Given the description of an element on the screen output the (x, y) to click on. 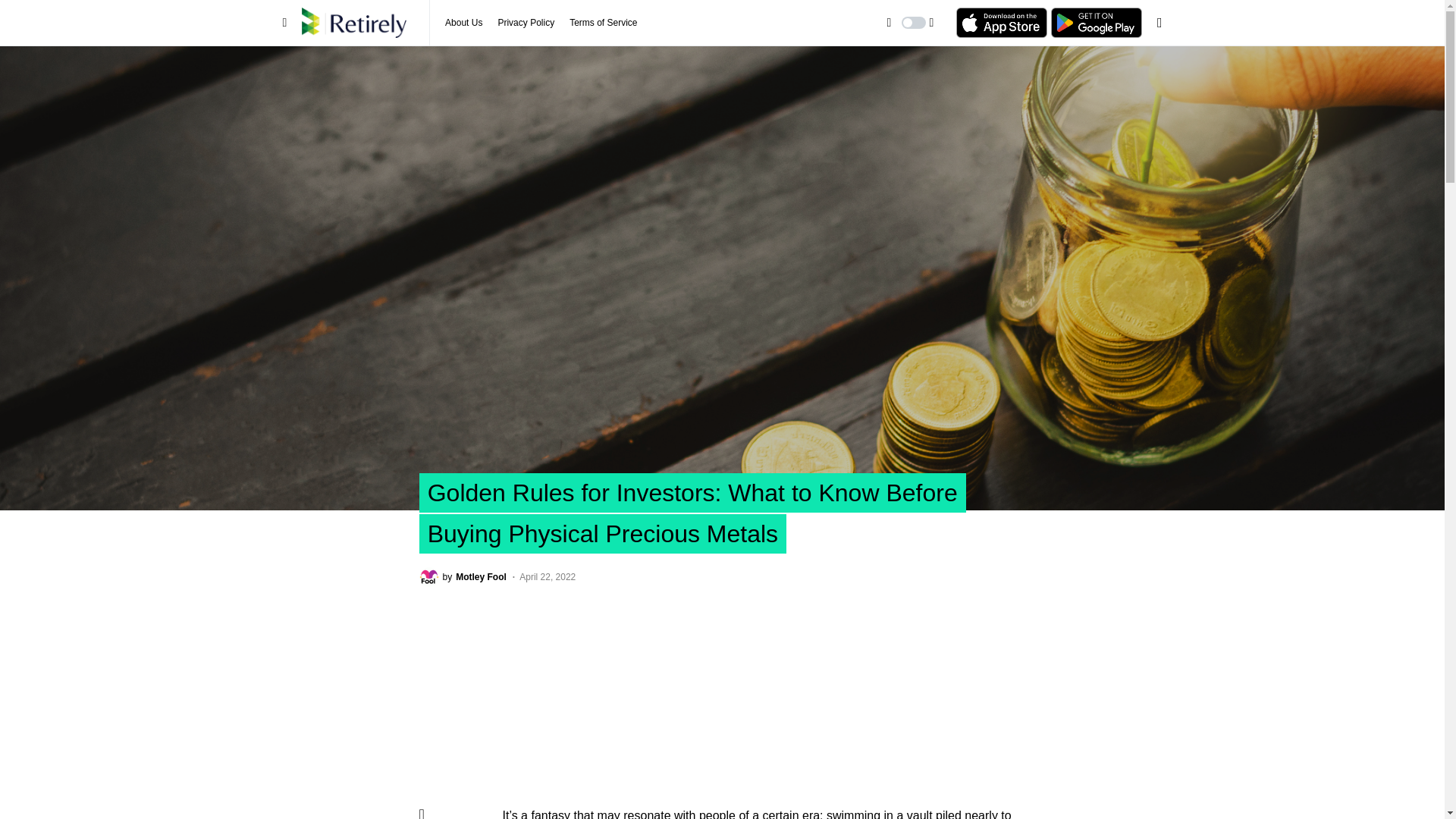
Privacy Policy (462, 577)
Terms of Service (525, 22)
About Us (603, 22)
View all posts by Motley Fool (463, 22)
